Given the description of an element on the screen output the (x, y) to click on. 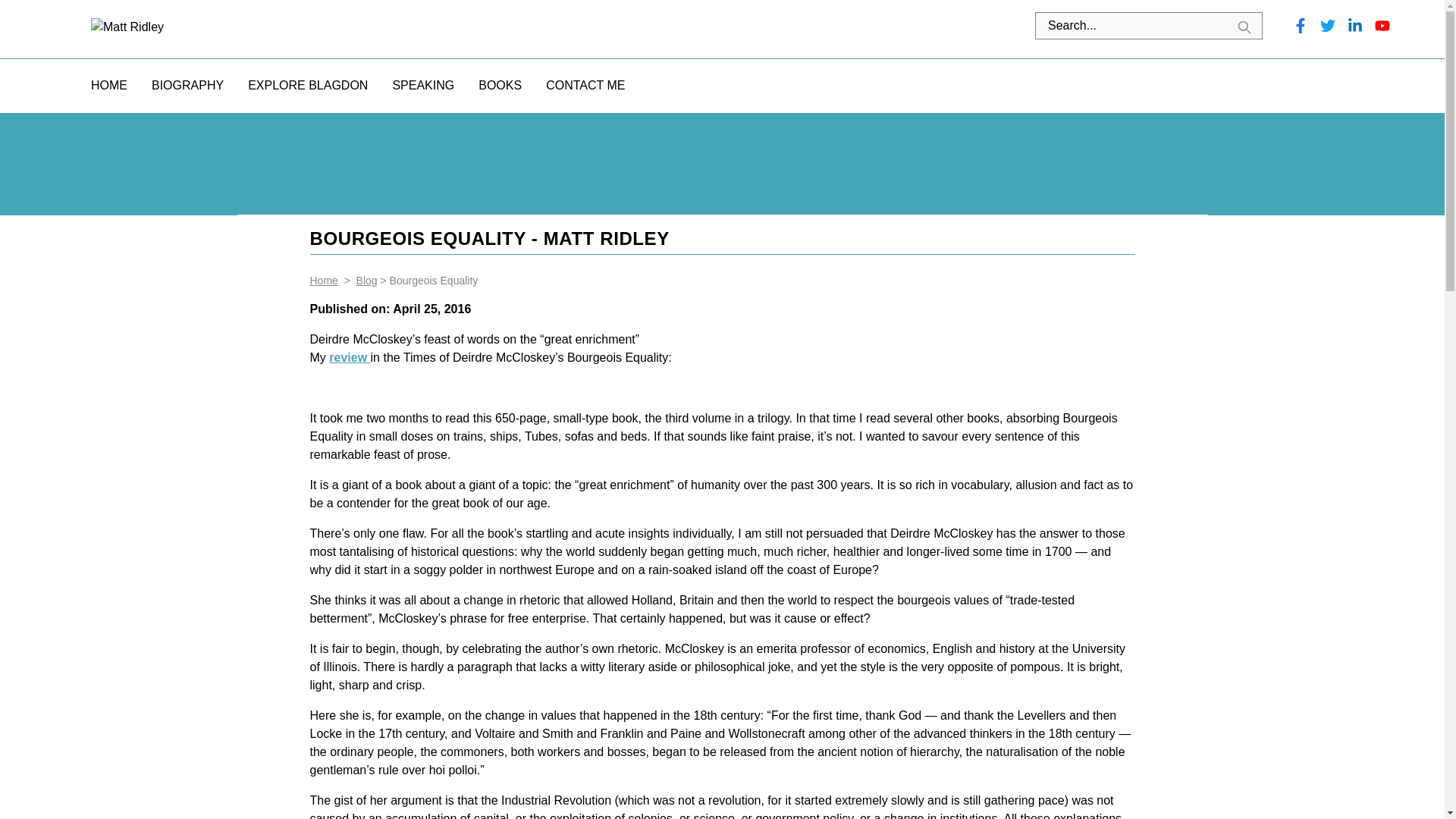
HOME (109, 84)
BIOGRAPHY (187, 84)
Blog (366, 280)
EXPLORE BLAGDON (307, 84)
Home (322, 280)
review (349, 357)
BOOKS (500, 84)
SPEAKING (422, 84)
CONTACT ME (585, 84)
